Given the description of an element on the screen output the (x, y) to click on. 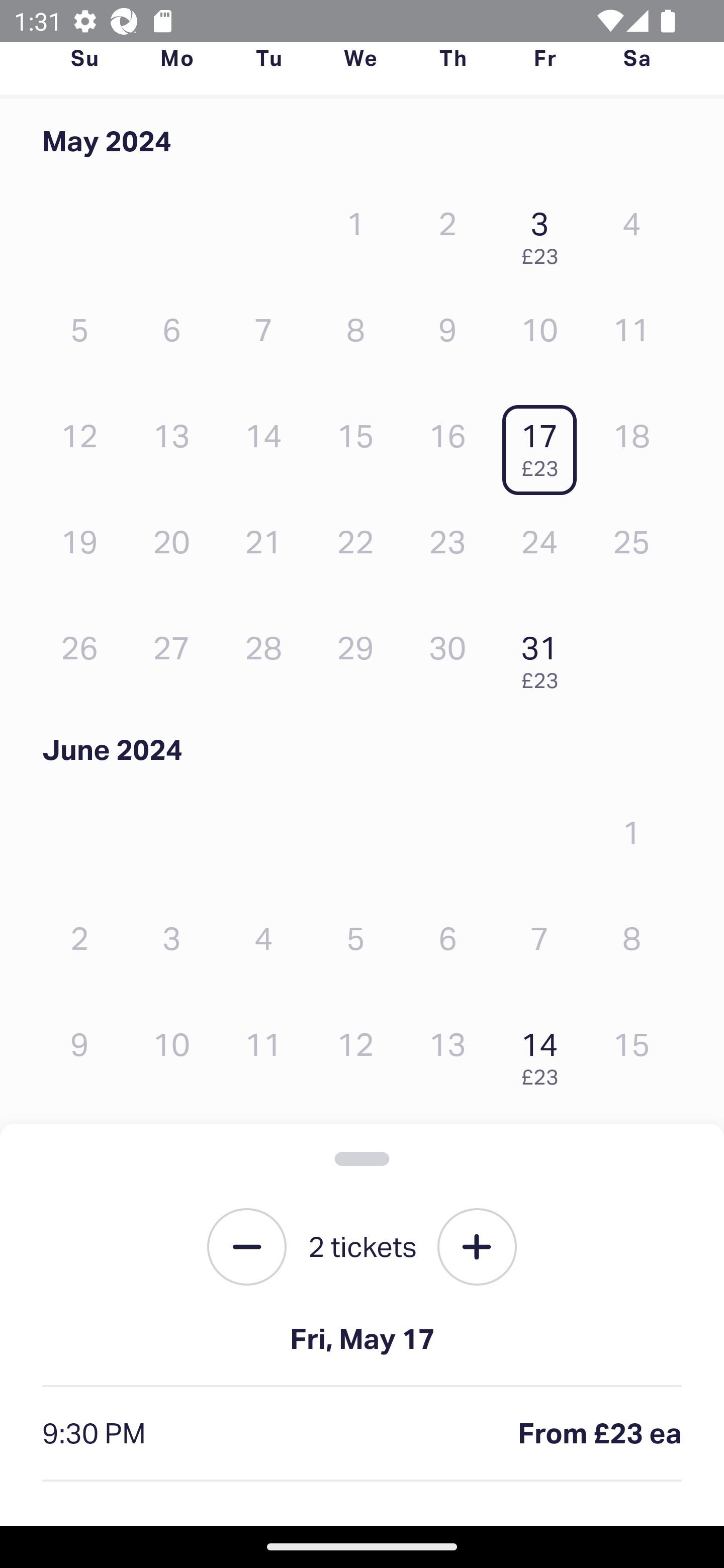
3 £23 (544, 232)
17 £23 (544, 445)
31 £23 (544, 657)
14 £23 (544, 1054)
9:30 PM From £23 ea (361, 1434)
